Given the description of an element on the screen output the (x, y) to click on. 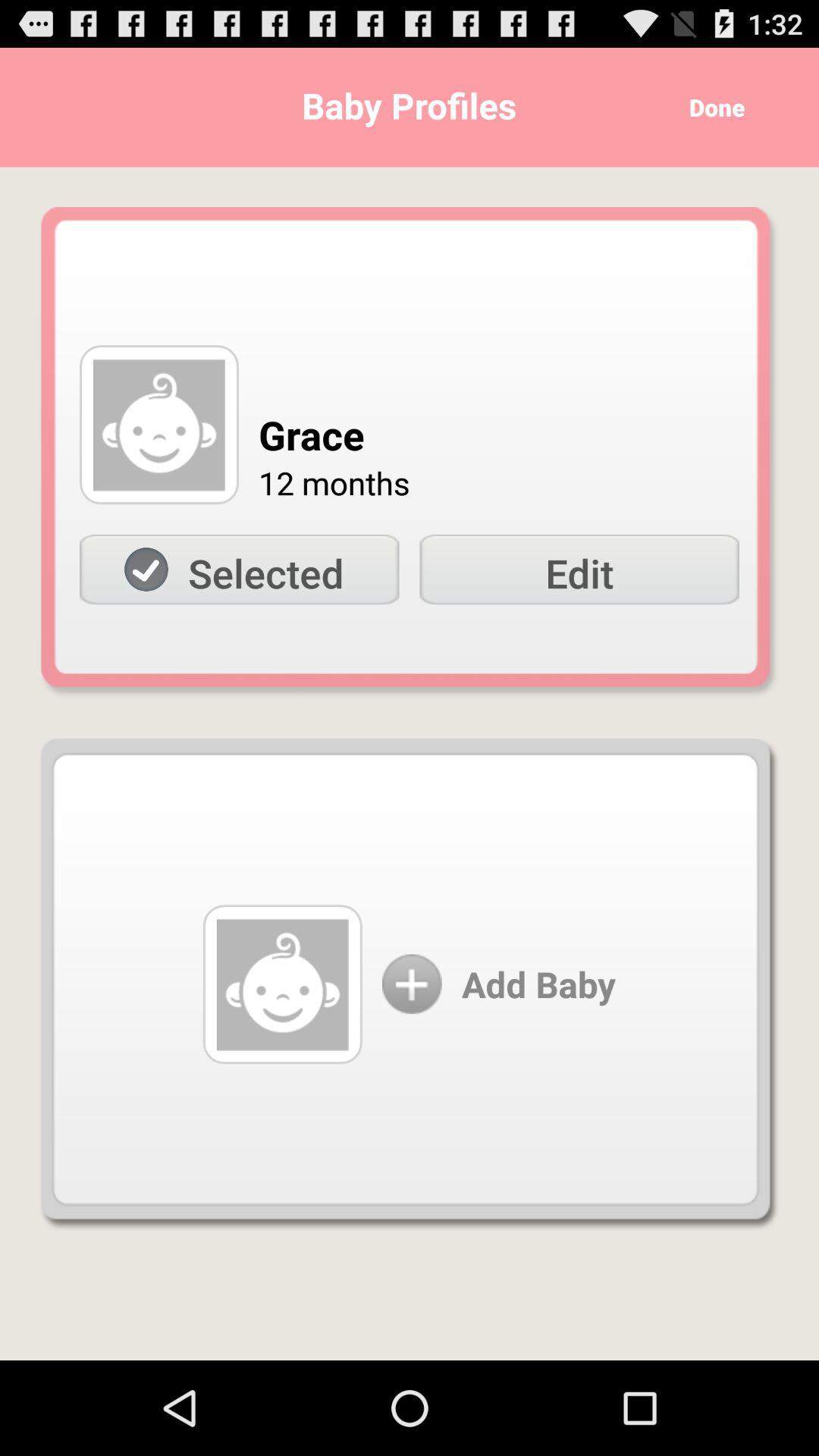
launch done at the top right corner (711, 107)
